Given the description of an element on the screen output the (x, y) to click on. 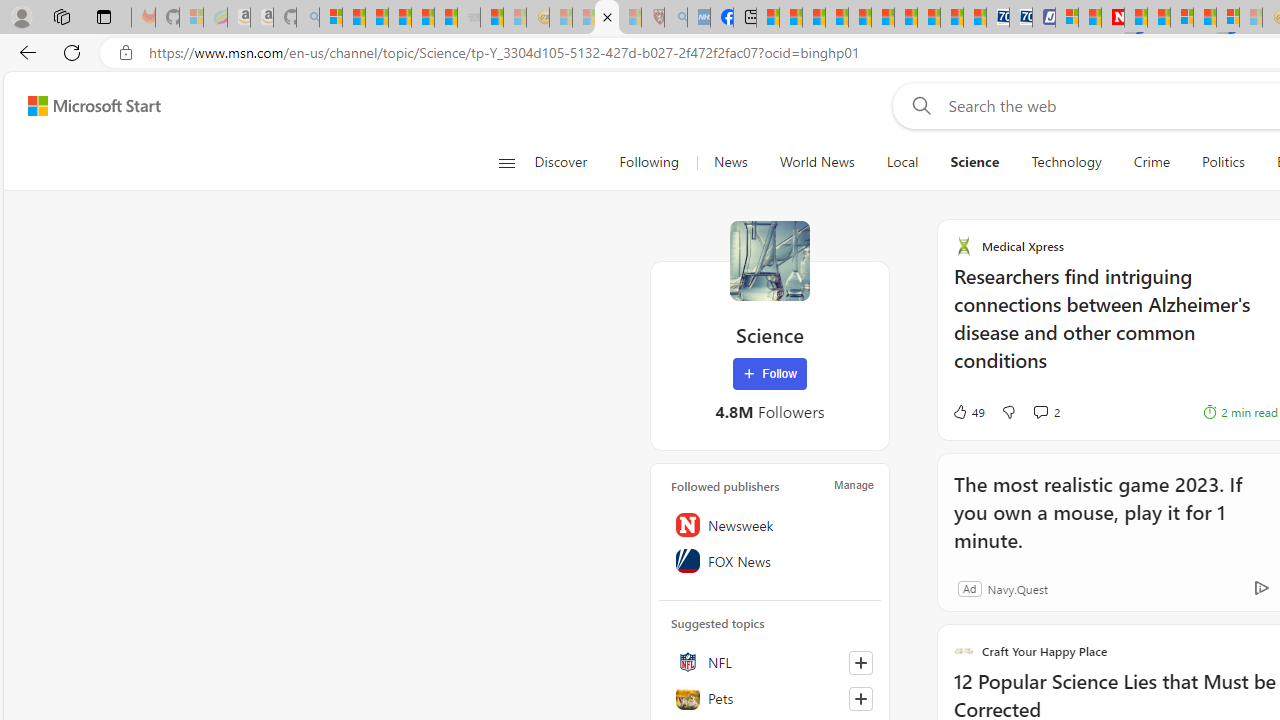
Latest Politics News & Archive | Newsweek.com (1112, 17)
